Given the description of an element on the screen output the (x, y) to click on. 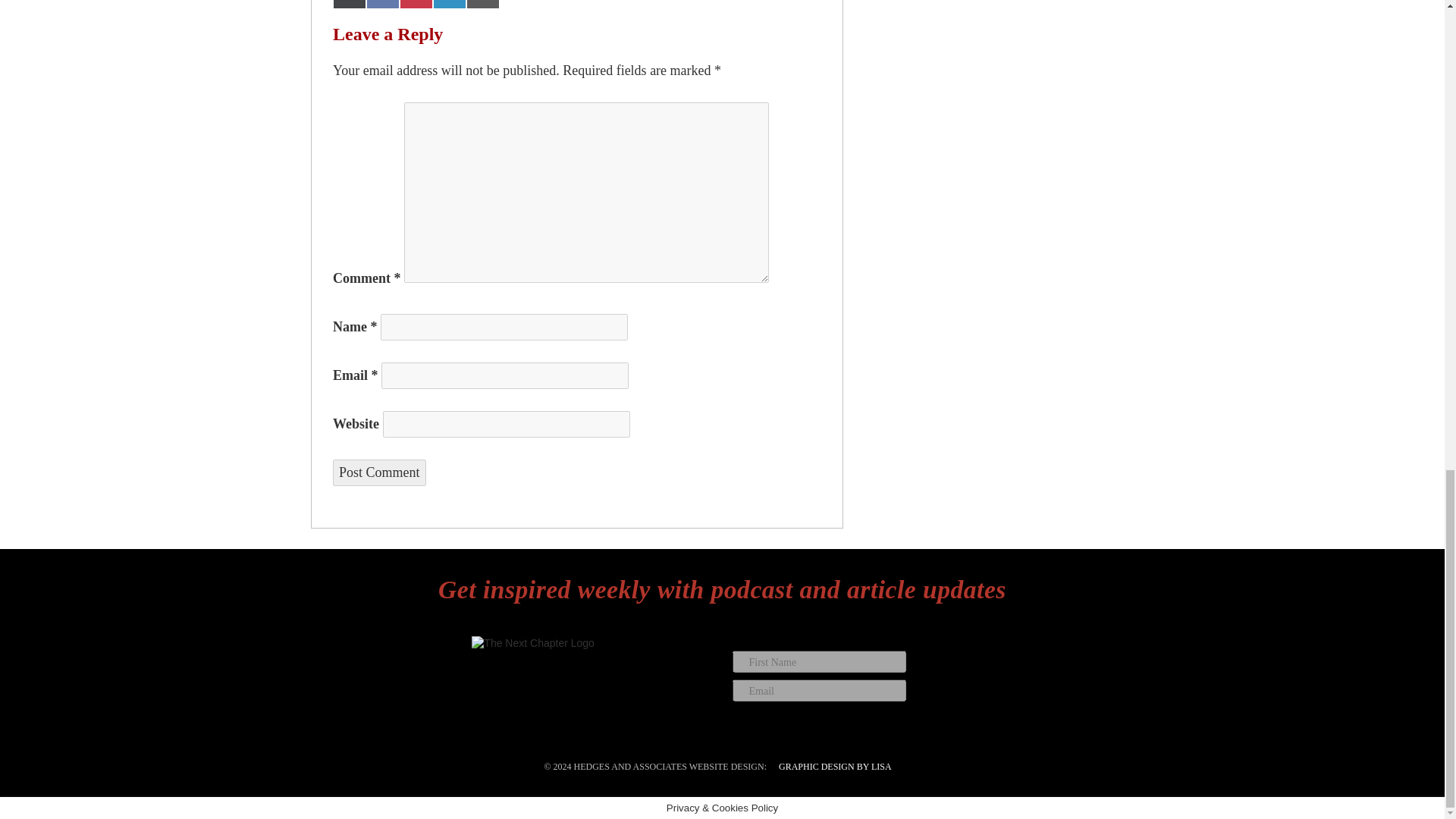
Share on Facebook (382, 4)
Post Comment (379, 472)
Share on Email (482, 4)
Share on Pinterest (415, 4)
GRAPHIC DESIGN BY LISA (834, 766)
Post Comment (379, 472)
Share on LinkedIn (448, 4)
